Given the description of an element on the screen output the (x, y) to click on. 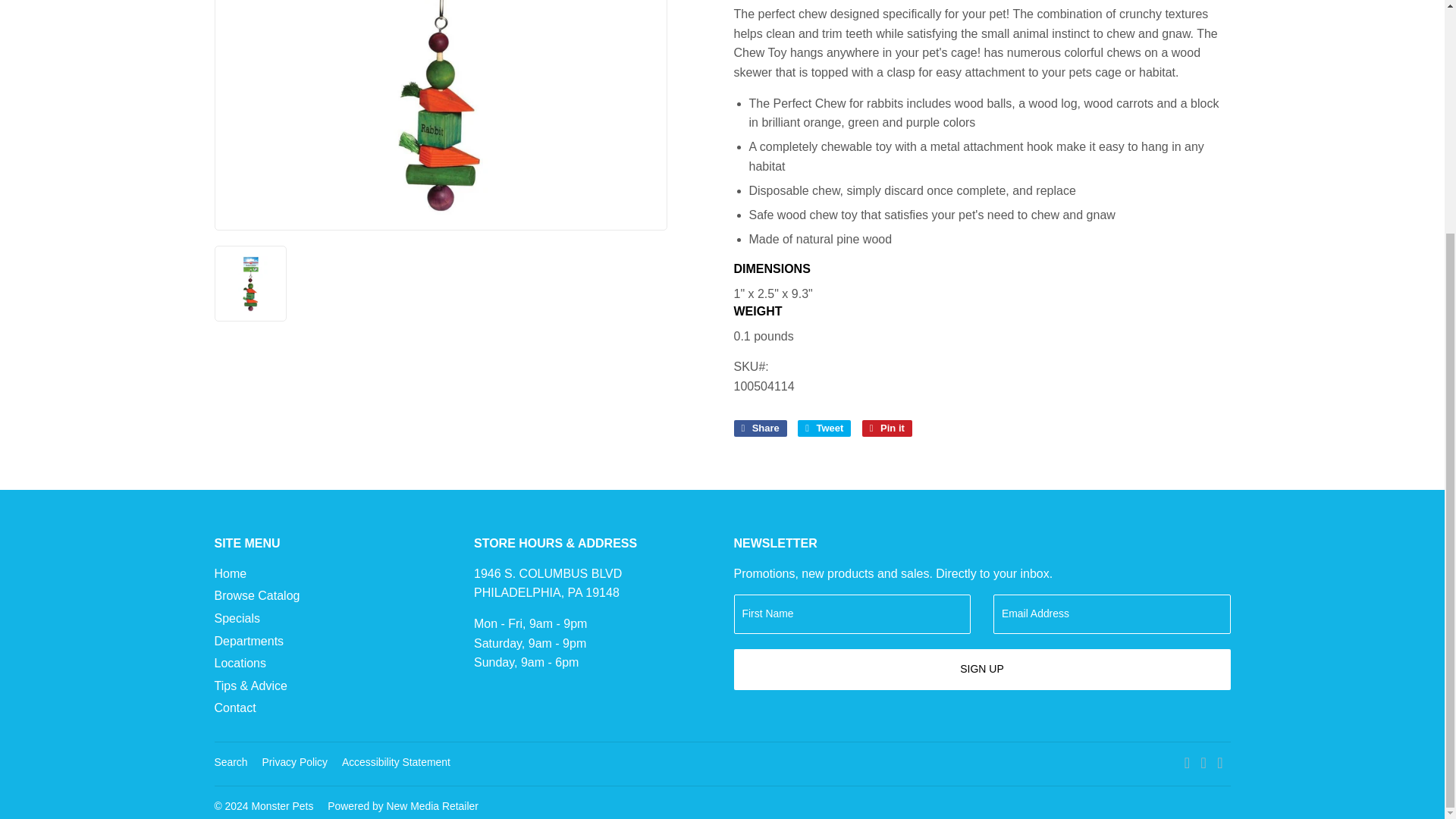
New Media Retailer (403, 806)
Open Product Zoom (441, 107)
Tweet on Twitter (823, 428)
Pin on Pinterest (886, 428)
Share on Facebook (760, 428)
